Given the description of an element on the screen output the (x, y) to click on. 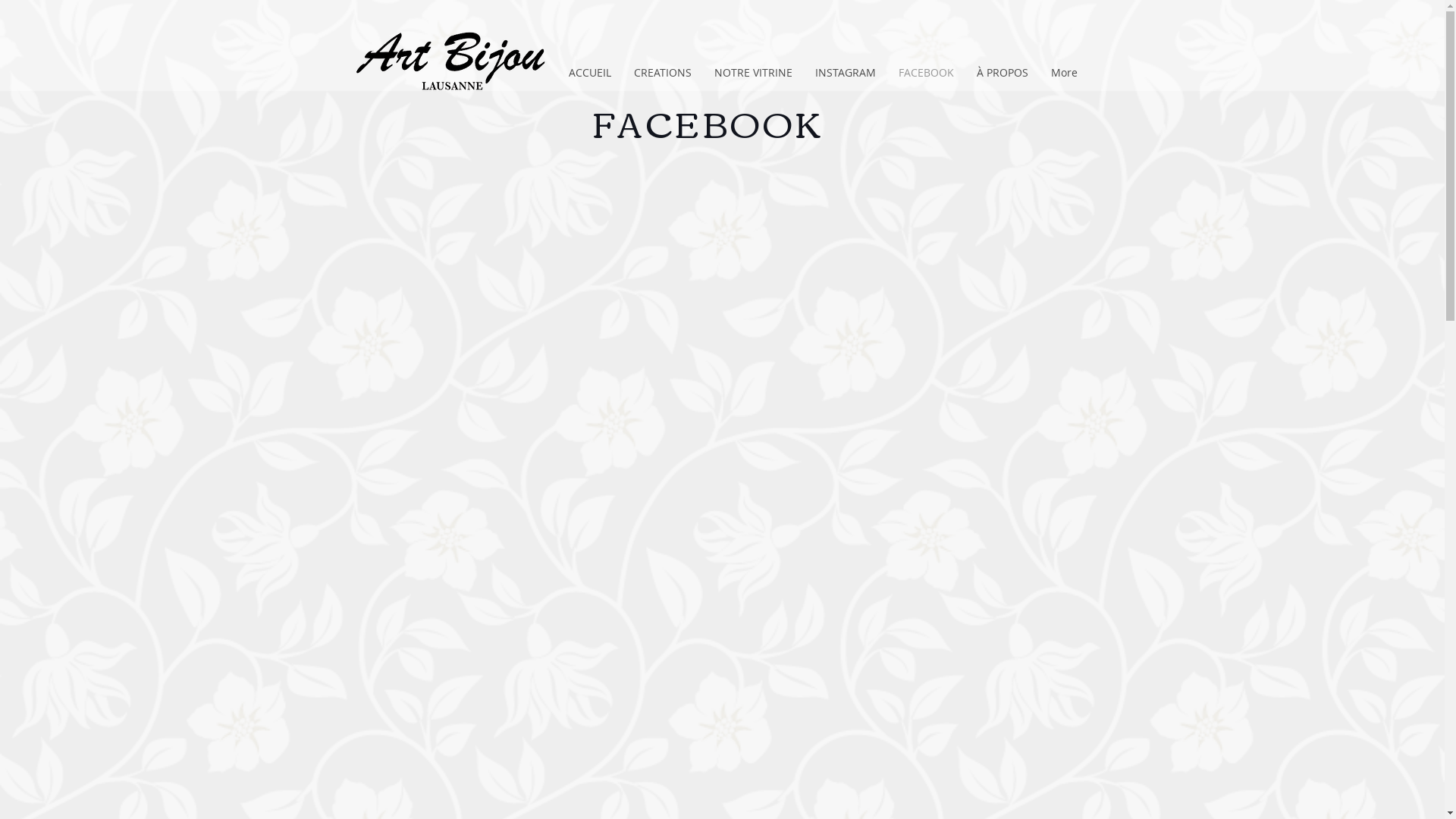
INSTAGRAM Element type: text (845, 72)
FACEBOOK Element type: text (926, 72)
CREATIONS Element type: text (662, 72)
NOTRE VITRINE Element type: text (752, 72)
ACCUEIL Element type: text (589, 72)
